Given the description of an element on the screen output the (x, y) to click on. 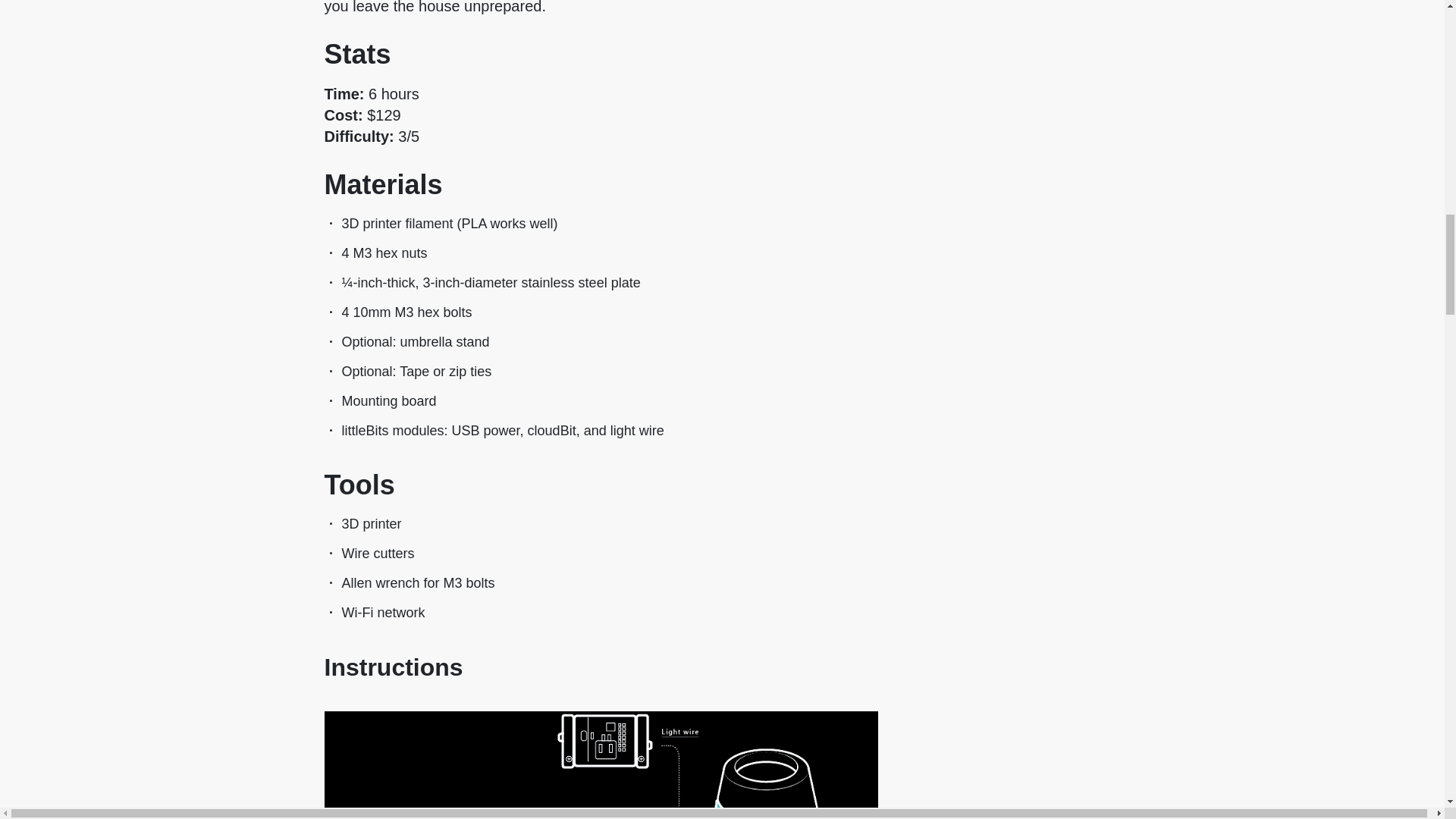
3rd party ad content (1165, 797)
